Given the description of an element on the screen output the (x, y) to click on. 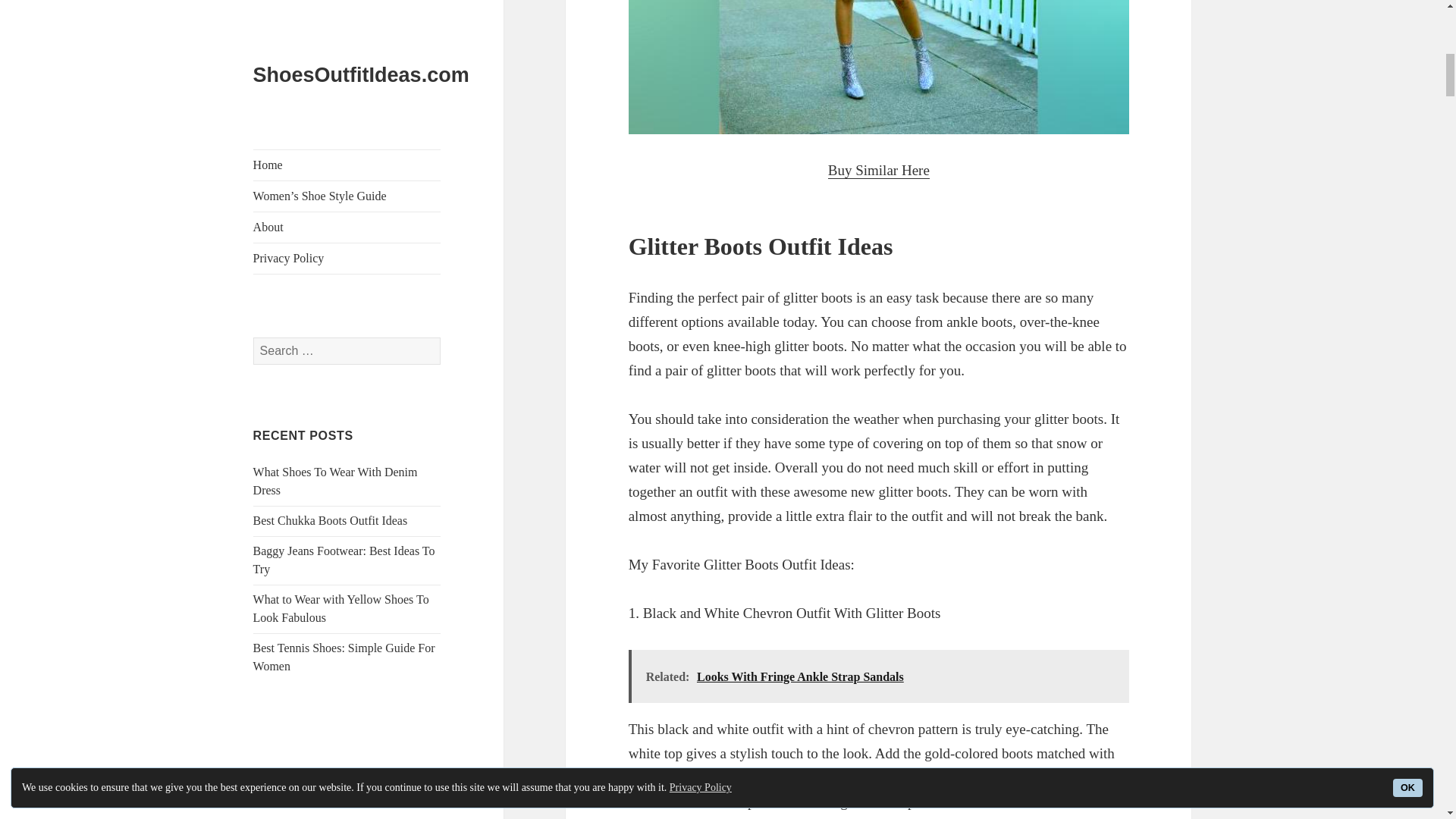
Glitter Boots Outfit Ideas: Best Guide To Try 2023 (878, 67)
Related:  Looks With Fringe Ankle Strap Sandals (878, 676)
Buy Similar Here (879, 170)
